Given the description of an element on the screen output the (x, y) to click on. 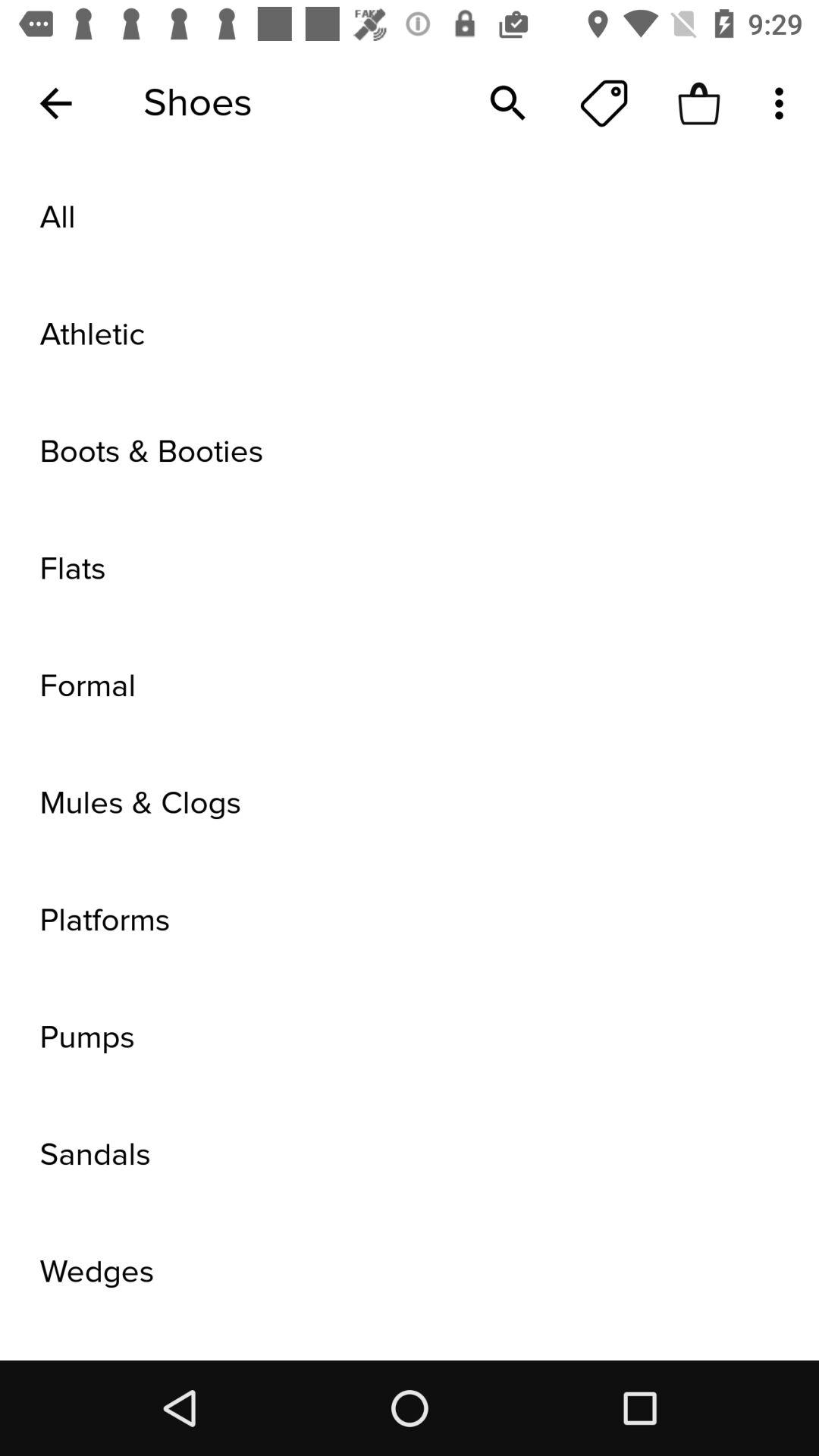
click the item below sandals (409, 1271)
